Given the description of an element on the screen output the (x, y) to click on. 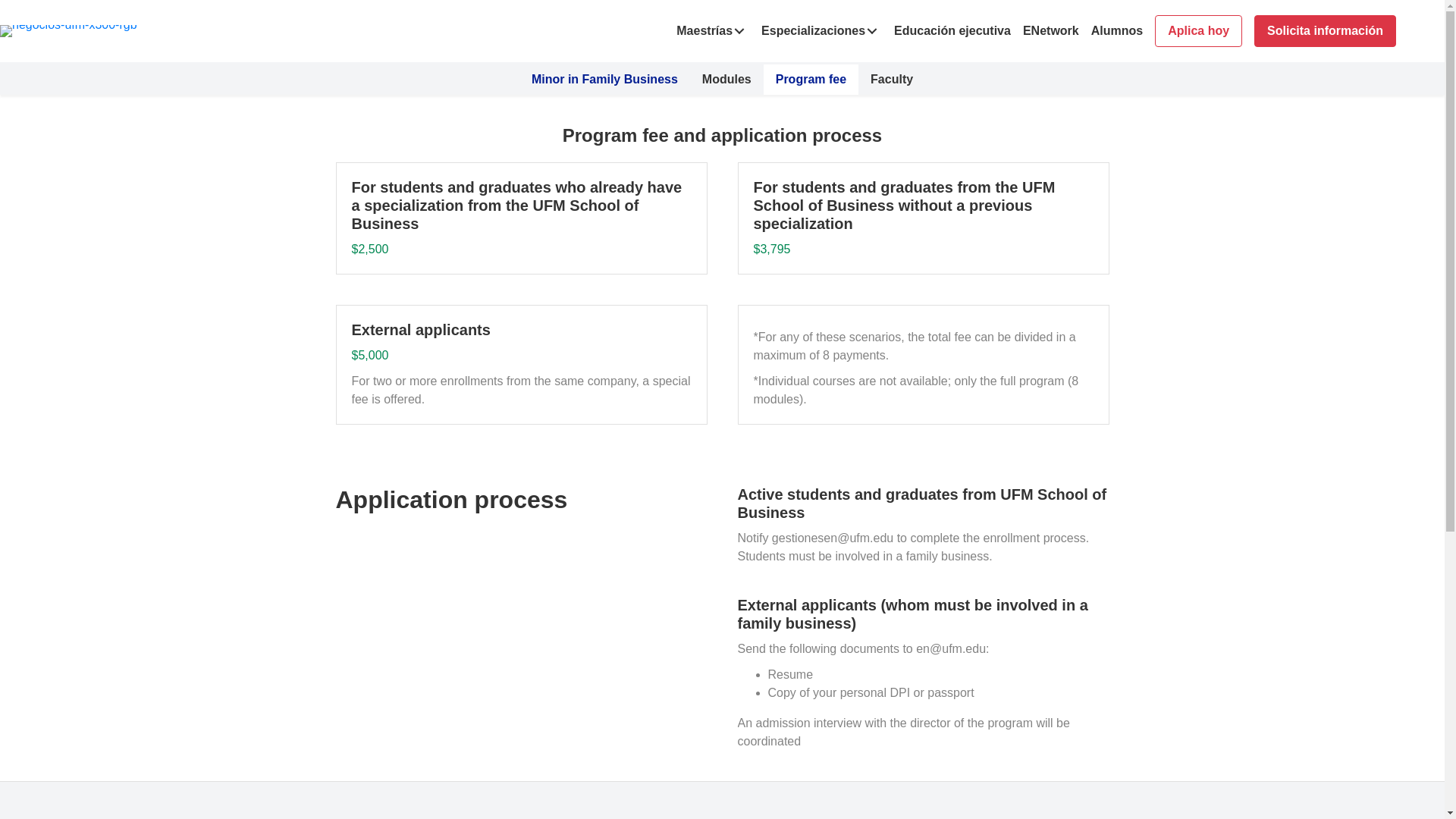
Program fee (810, 79)
Especializaciones (821, 30)
Aplica hoy (1198, 30)
Alumnos (1000, 815)
Especializaciones (721, 815)
Faculty (891, 79)
Alumnos (1116, 30)
negocios-ufm-x300-rgb (68, 30)
Modules (726, 79)
Minor in Family Business (604, 79)
ENetwork (1050, 30)
